Given the description of an element on the screen output the (x, y) to click on. 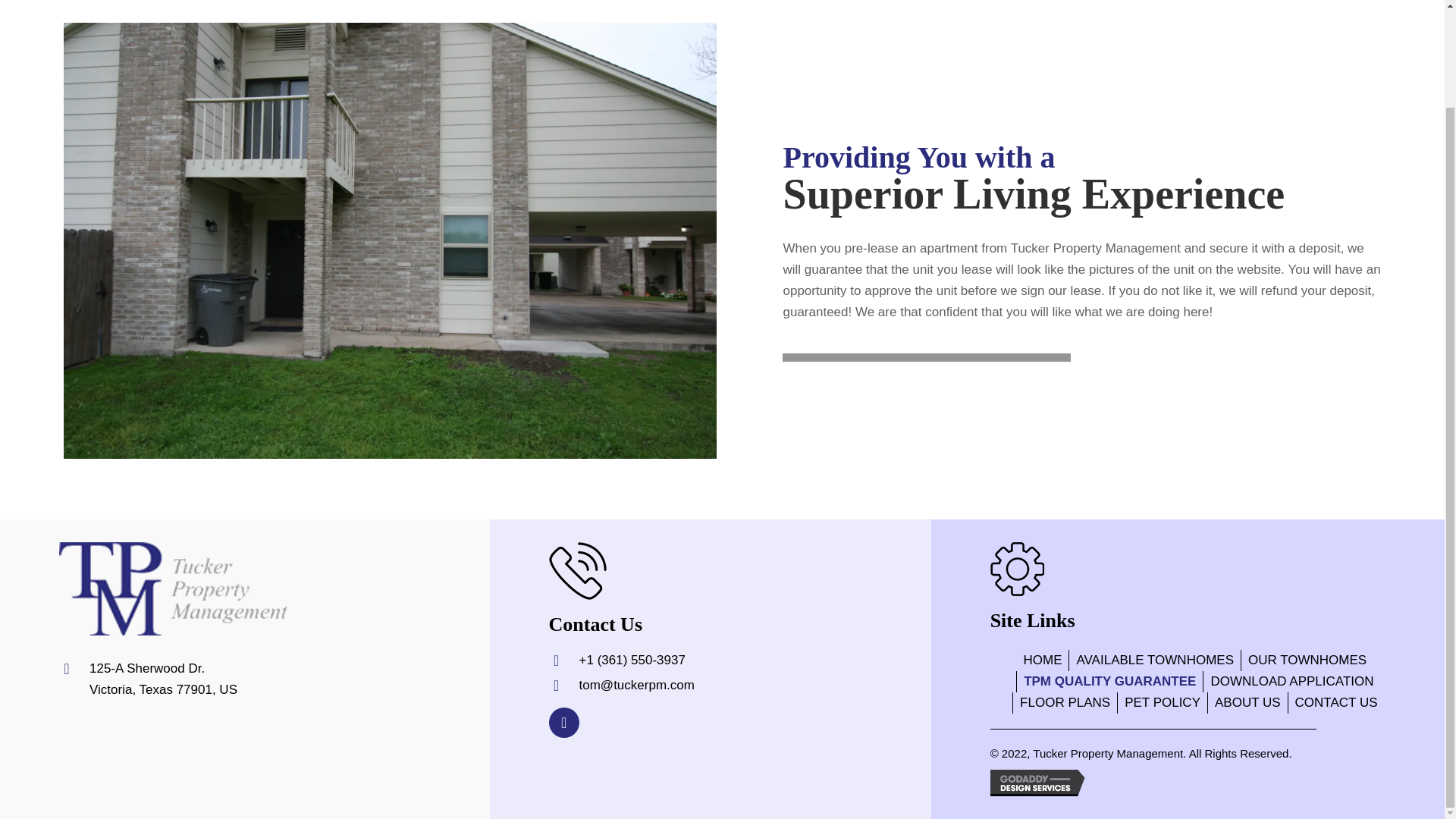
PET POLICY (1162, 702)
Facebook (563, 722)
AVAILABLE TOWNHOMES (1154, 660)
OUR TOWNHOMES (1307, 660)
CONTACT US (1336, 702)
ABOUT US (1247, 702)
DOWNLOAD APPLICATION (1292, 681)
TPM QUALITY GUARANTEE (1109, 681)
HOME (1045, 660)
FLOOR PLANS (1064, 702)
